Given the description of an element on the screen output the (x, y) to click on. 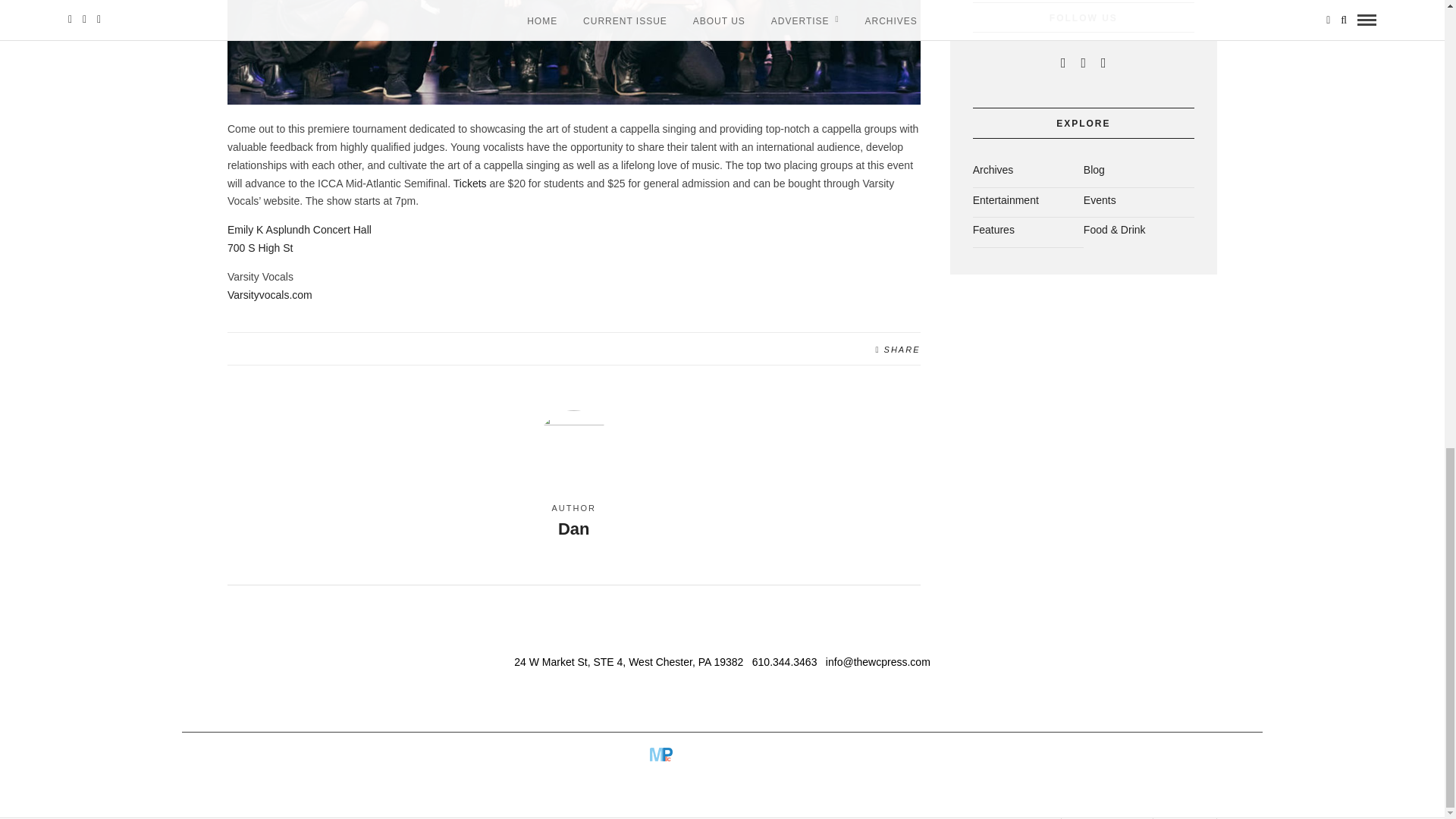
Entertainment (1005, 204)
Facebook (1063, 62)
Instagram (1144, 754)
Tickets (469, 183)
Instagram (1103, 62)
Varsityvocals.com (270, 295)
Archives (992, 174)
Blog (299, 238)
Twitter (1094, 174)
